Given the description of an element on the screen output the (x, y) to click on. 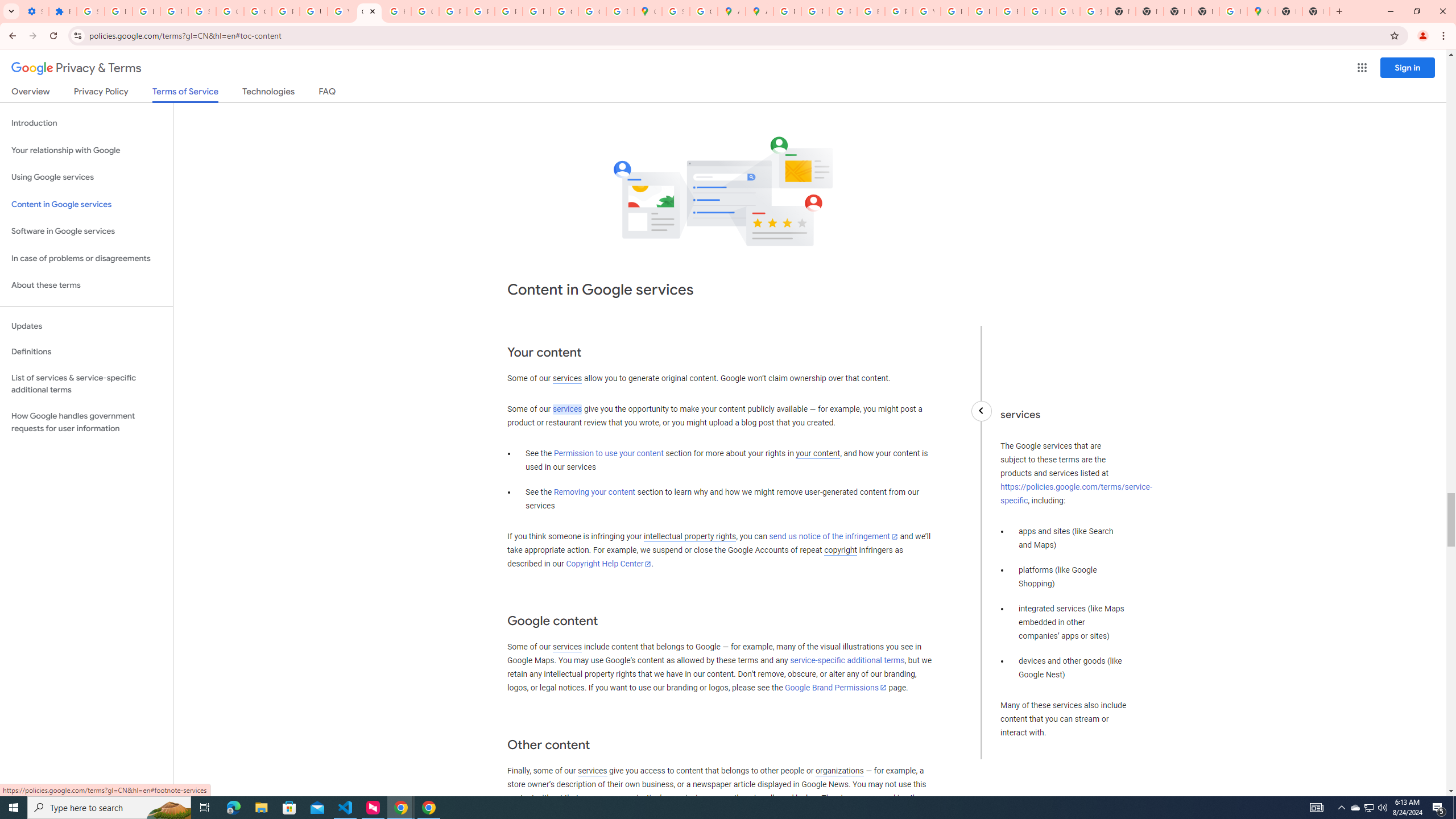
your content (817, 453)
Learn how to find your photos - Google Photos Help (146, 11)
Sign in - Google Accounts (90, 11)
organizations (839, 770)
Google Account Help (257, 11)
Use Google Maps in Space - Google Maps Help (1233, 11)
FAQ (327, 93)
List of services & service-specific additional terms (86, 383)
